Given the description of an element on the screen output the (x, y) to click on. 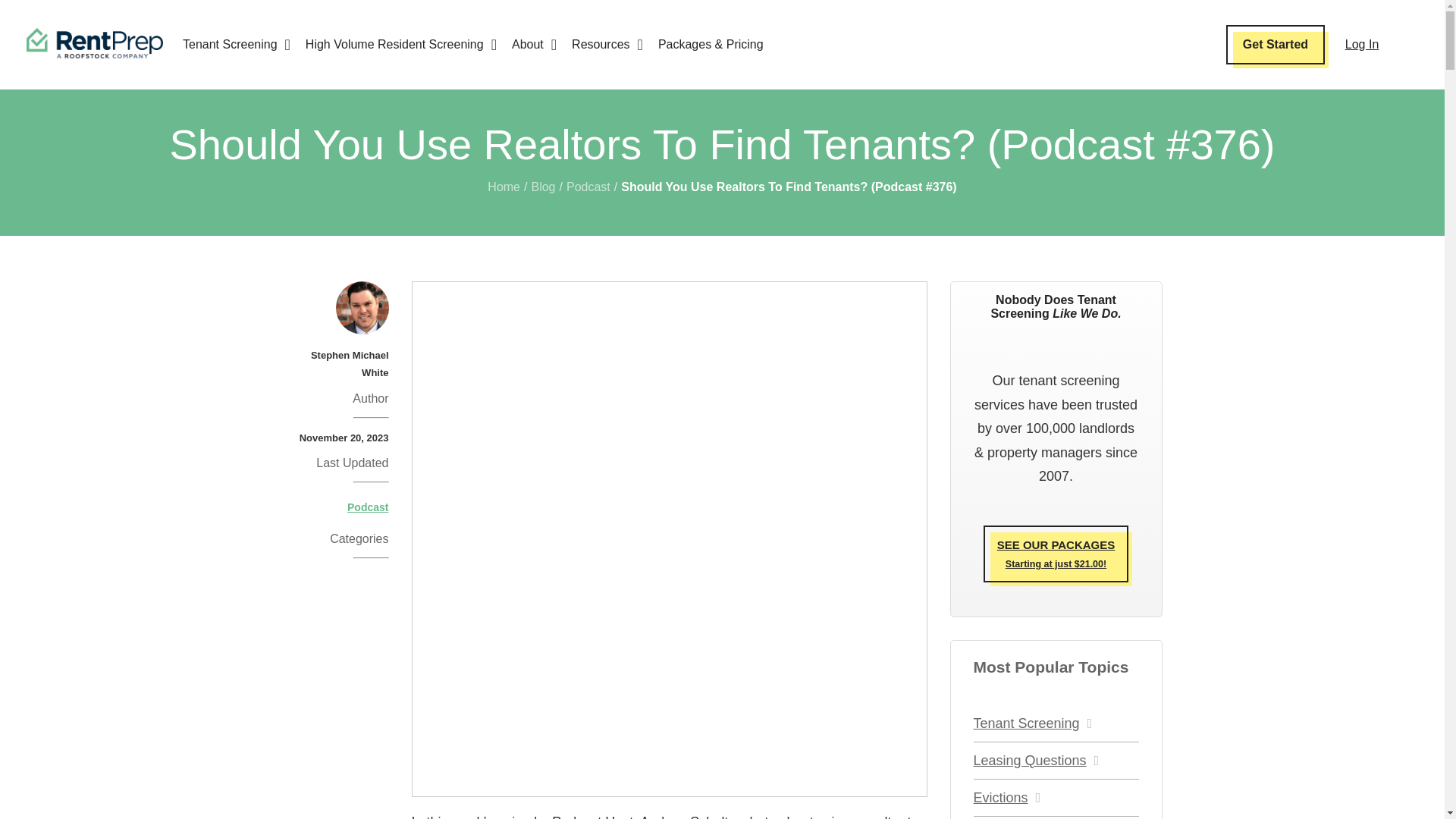
Podcast (588, 186)
Home (503, 186)
Home (503, 186)
Podcast (367, 507)
Blog (542, 186)
Get Started (1274, 44)
High Volume Resident Screening (400, 44)
Tenant Screening (236, 44)
